Given the description of an element on the screen output the (x, y) to click on. 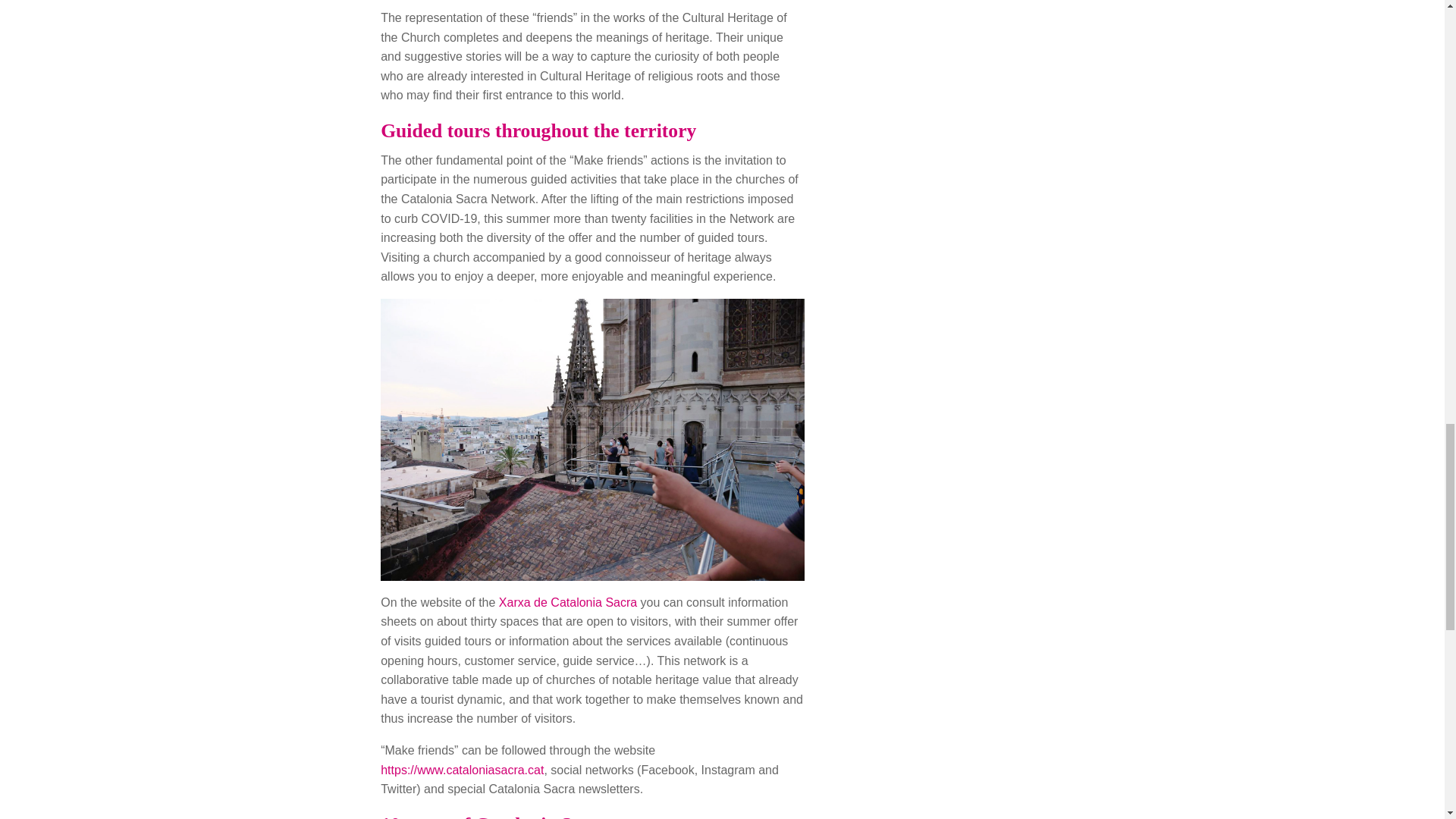
Xarxa de Catalonia Sacra (568, 602)
